Given the description of an element on the screen output the (x, y) to click on. 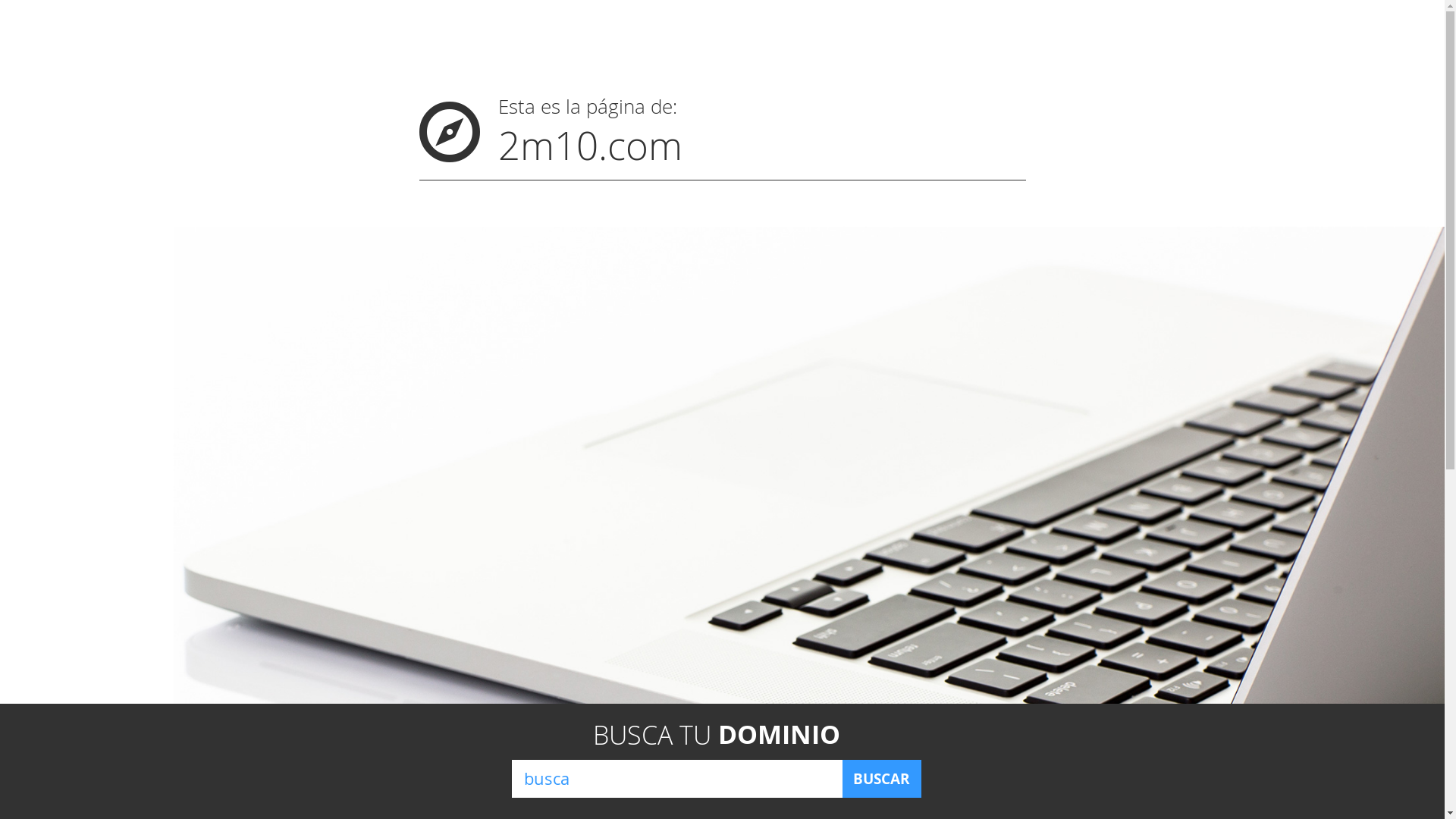
BUSCAR Element type: text (880, 778)
